Given the description of an element on the screen output the (x, y) to click on. 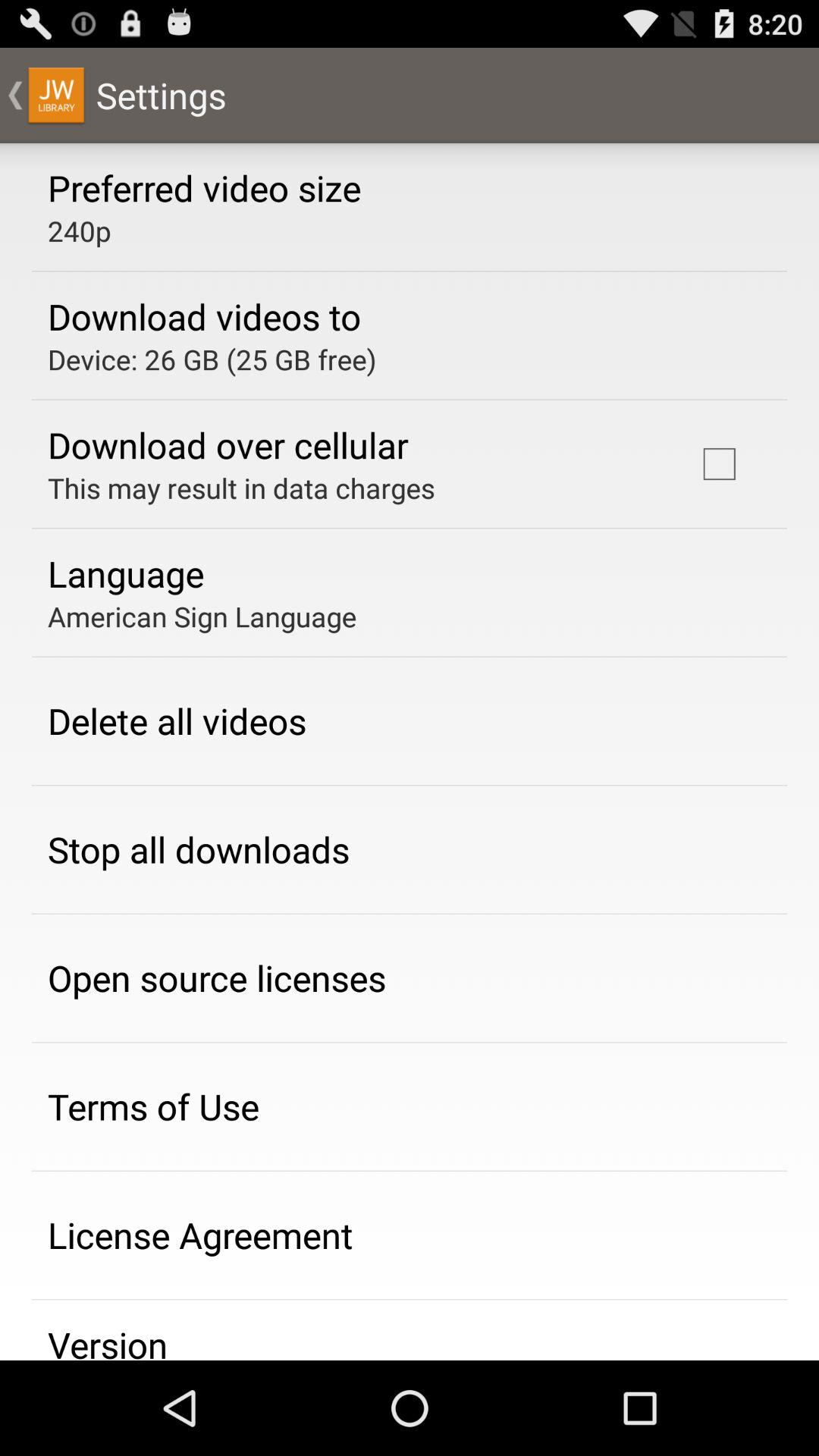
turn off the icon above stop all downloads item (176, 720)
